Given the description of an element on the screen output the (x, y) to click on. 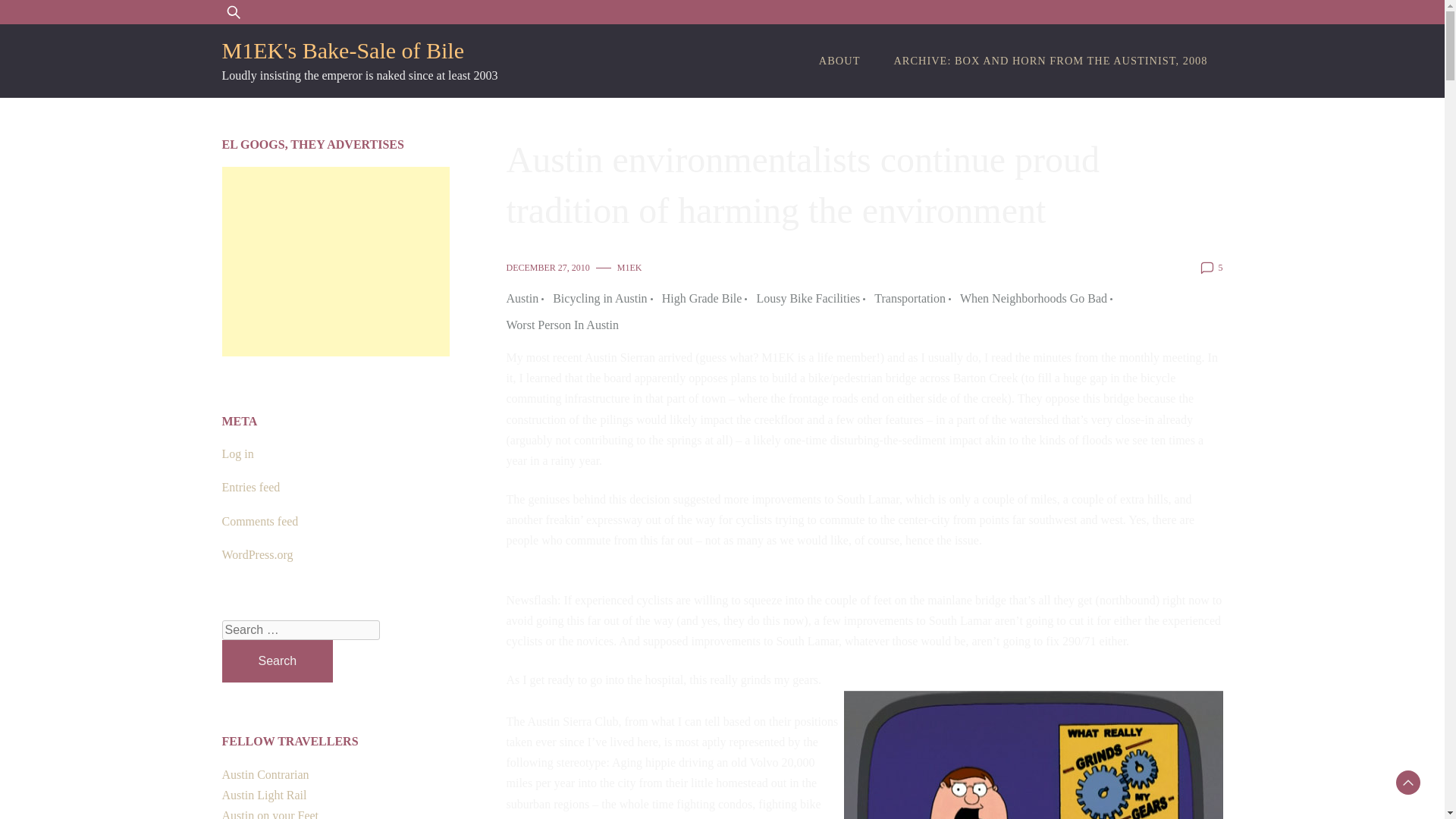
Austin on your Feet (269, 814)
Lousy Bike Facilities (811, 298)
When Neighborhoods Go Bad (1037, 298)
M1EK (629, 267)
ABOUT (839, 60)
High Grade Bile (706, 298)
Worst Person In Austin (563, 324)
Search (277, 660)
Entries feed (250, 486)
ARCHIVE: BOX AND HORN FROM THE AUSTINIST, 2008 (1050, 60)
